Given the description of an element on the screen output the (x, y) to click on. 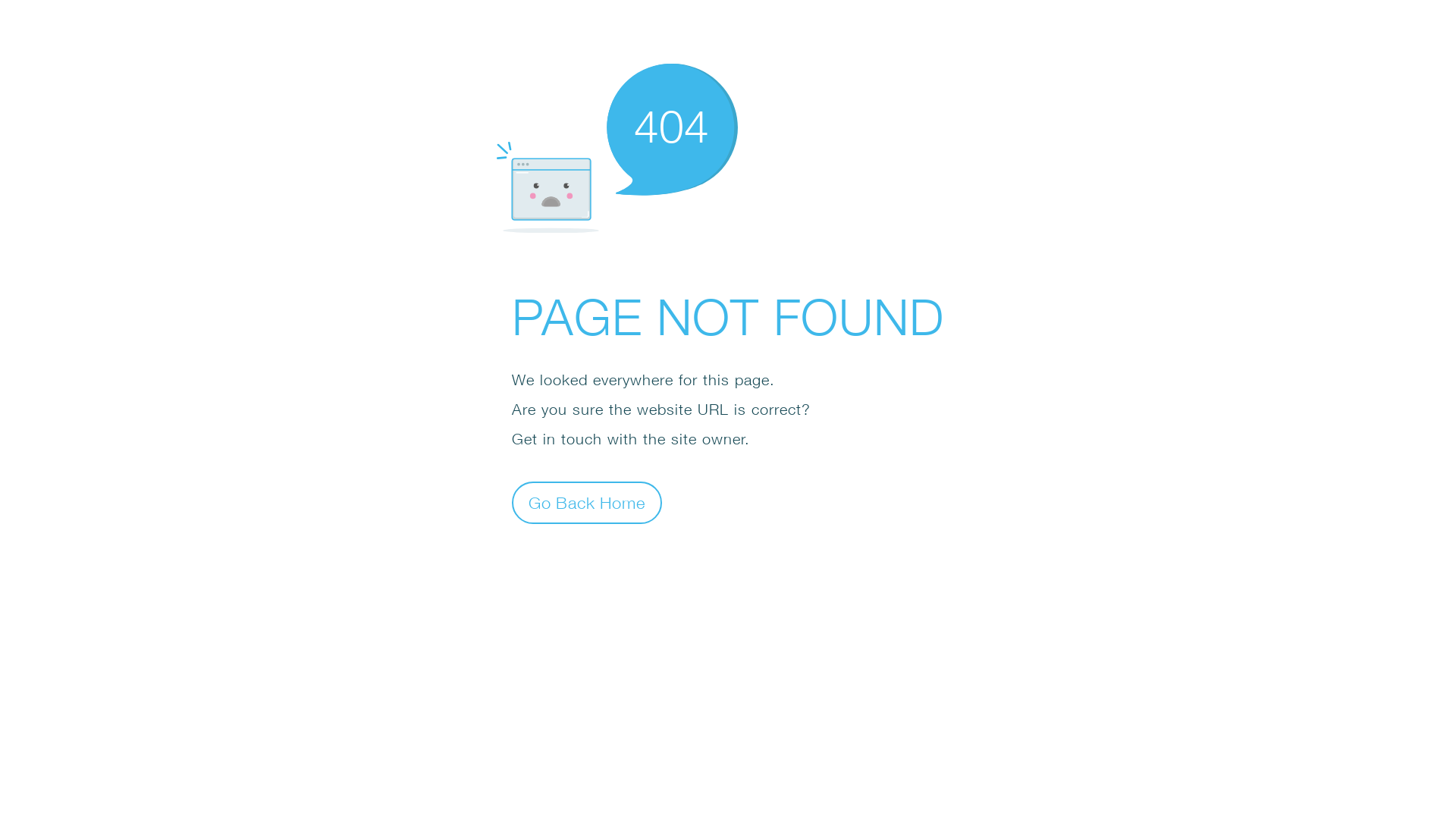
Go Back Home Element type: text (586, 502)
